Given the description of an element on the screen output the (x, y) to click on. 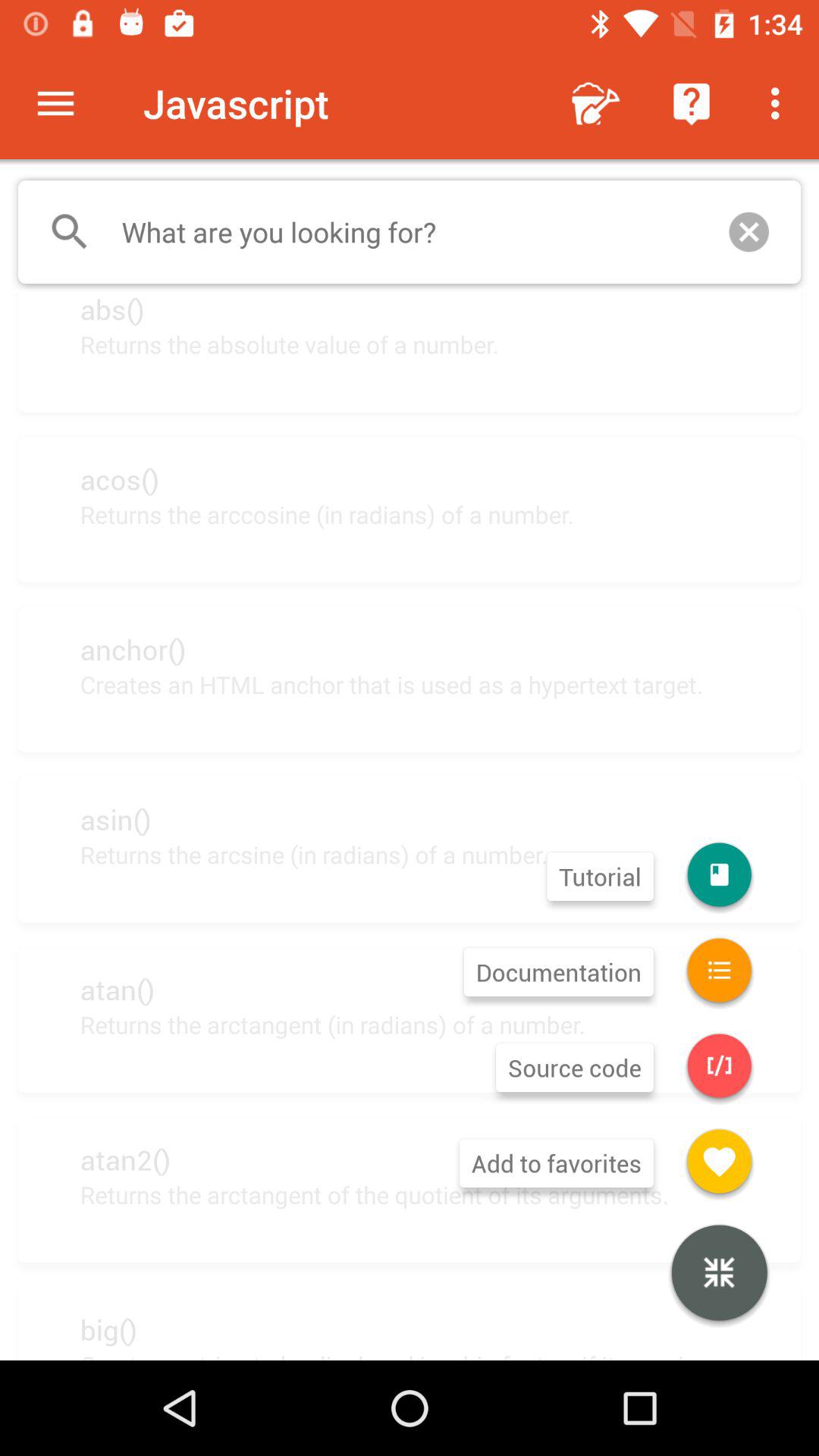
turn off the icon above abs() (409, 231)
